Given the description of an element on the screen output the (x, y) to click on. 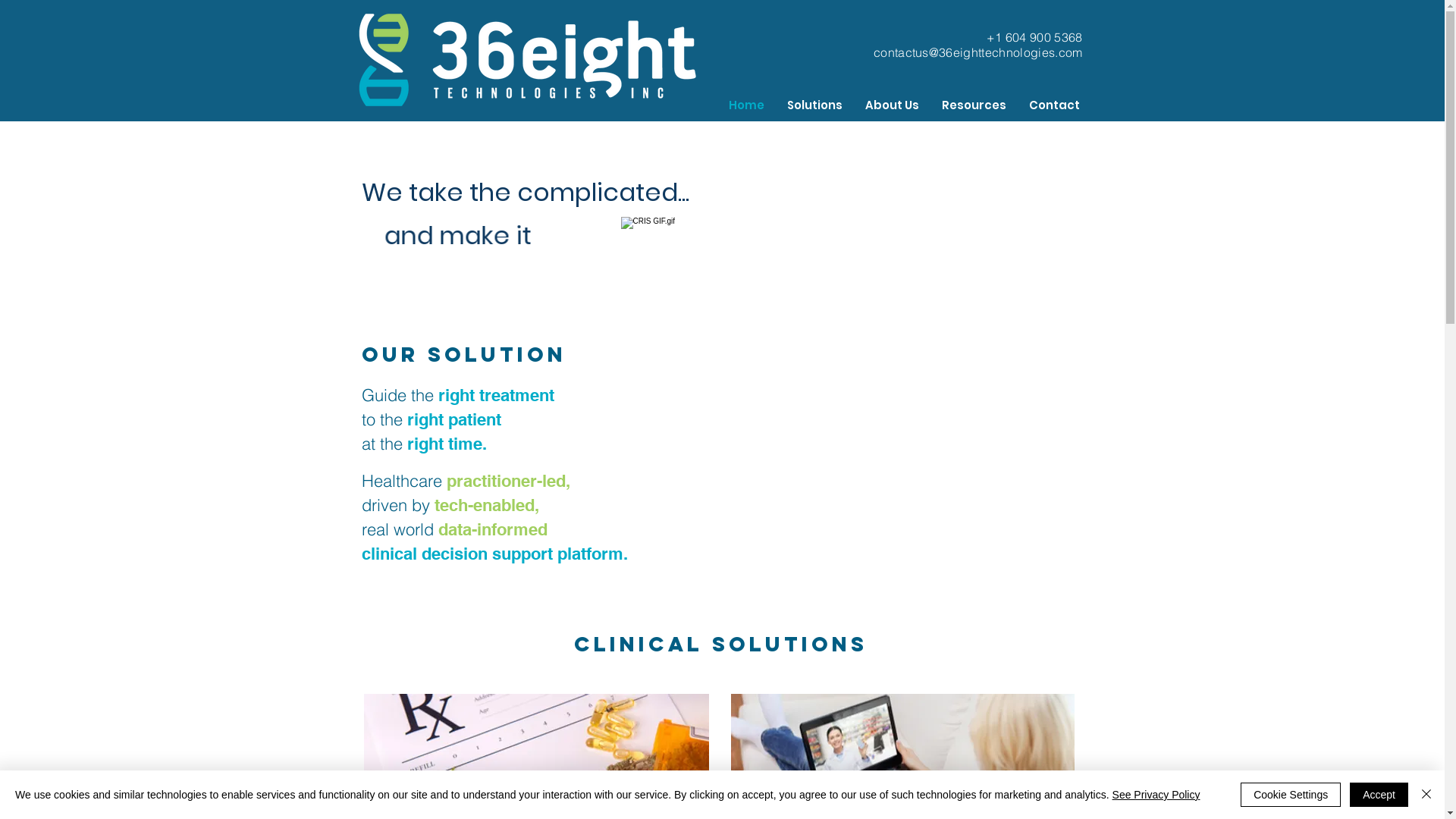
See Privacy Policy Element type: text (1156, 794)
contactus@36eighttechnologies.com Element type: text (977, 51)
Cookie Settings Element type: text (1290, 794)
Resources Element type: text (972, 104)
Solutions Element type: text (814, 104)
Accept Element type: text (1378, 794)
About Us Element type: text (891, 104)
Contact Element type: text (1054, 104)
Home Element type: text (746, 104)
